Given the description of an element on the screen output the (x, y) to click on. 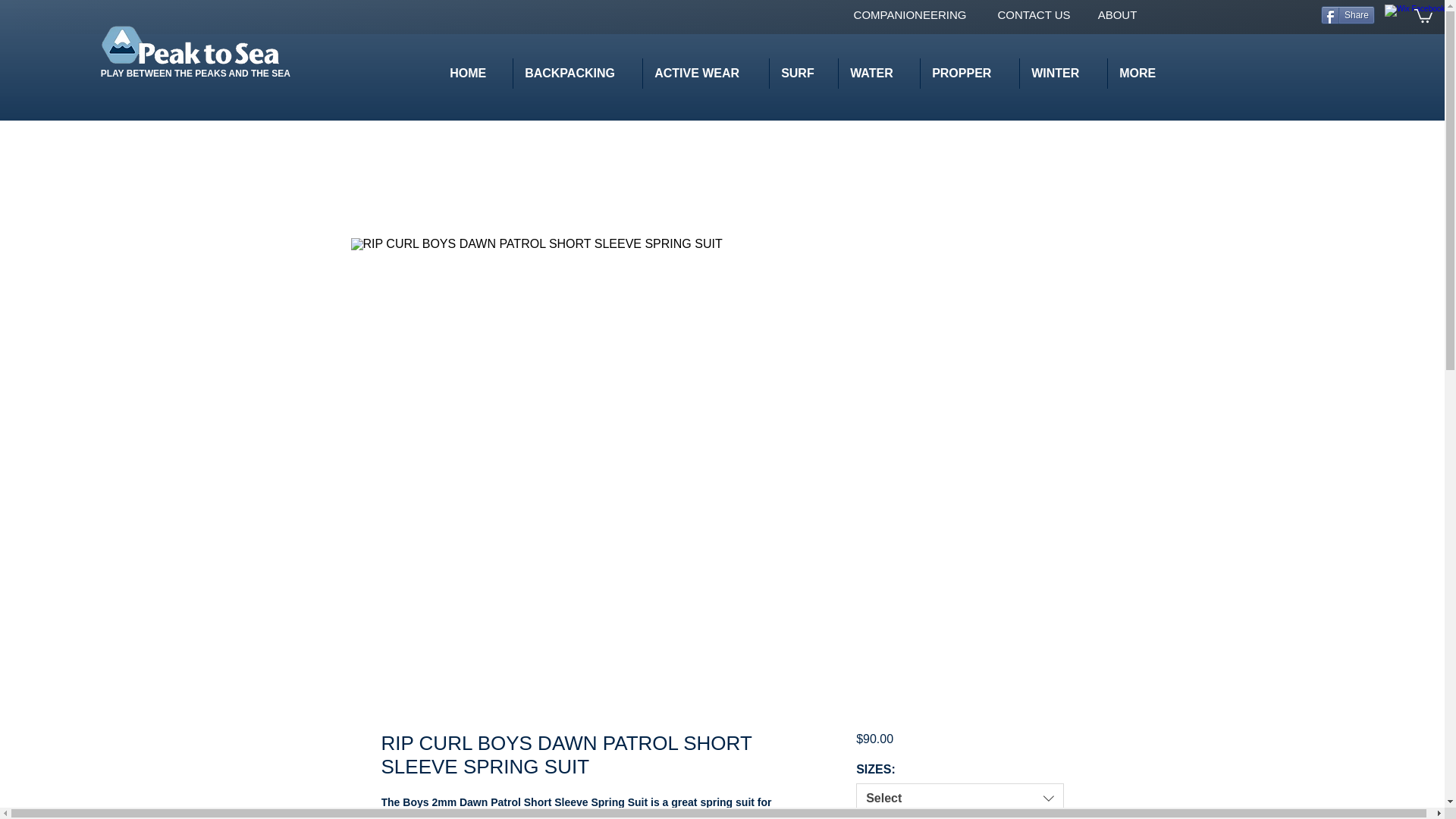
HOME (475, 73)
CONTACT US (1033, 14)
Share (1347, 14)
BACKPACKING (577, 73)
Share (1347, 14)
COMPANIONEERING (909, 14)
ABOUT (1117, 14)
ACTIVE WEAR (705, 73)
